Given the description of an element on the screen output the (x, y) to click on. 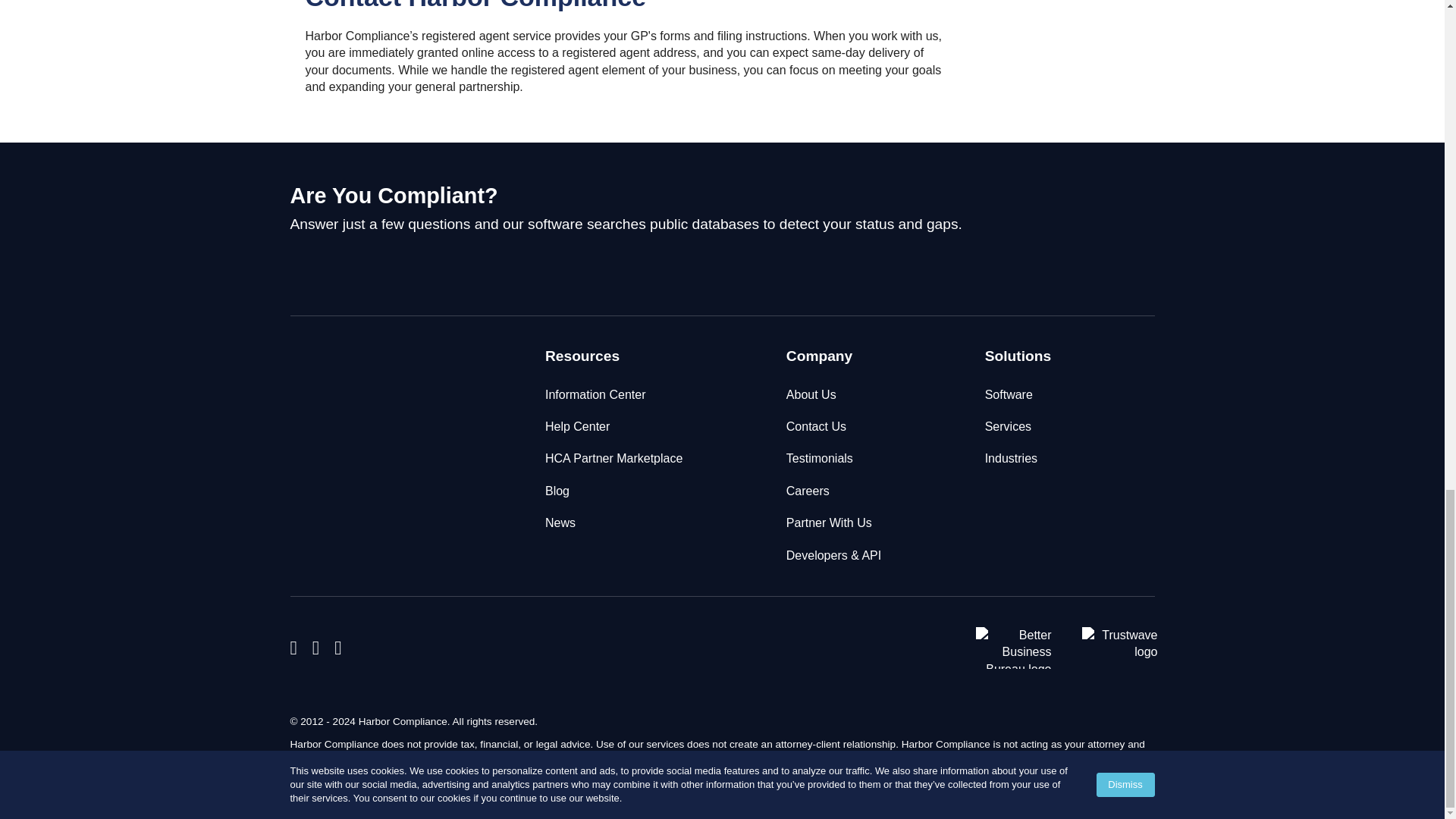
Harbor Compliance BBB Business Review (1005, 648)
